Given the description of an element on the screen output the (x, y) to click on. 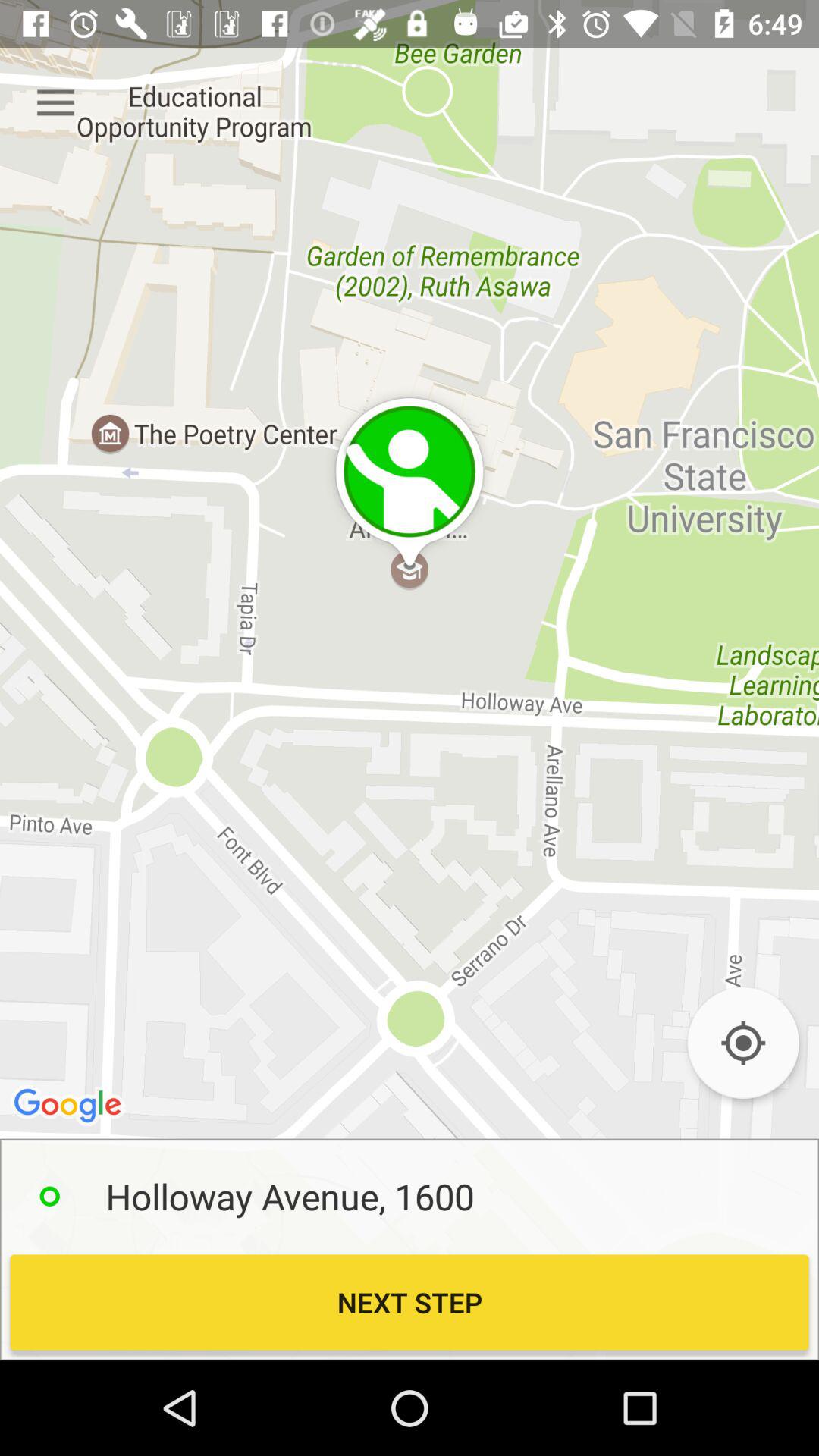
flip until the next step item (409, 1302)
